Given the description of an element on the screen output the (x, y) to click on. 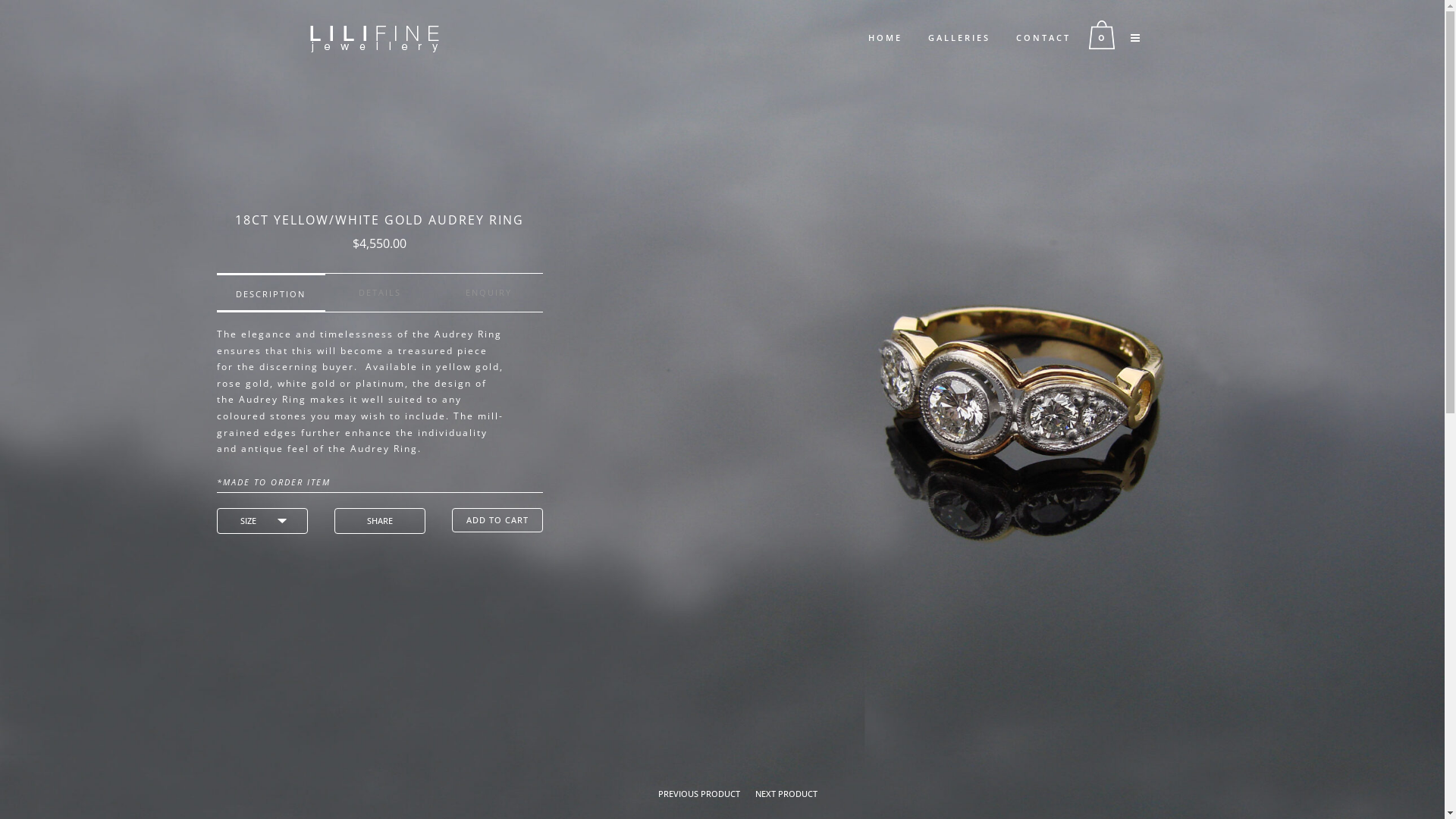
DESCRIPTION Element type: text (270, 293)
GALLERIES Element type: text (958, 37)
ENQUIRY Element type: text (487, 292)
DETAILS Element type: text (379, 292)
HOME Element type: text (885, 37)
SHARE Element type: text (379, 520)
CONTACT Element type: text (1042, 37)
NEXT PRODUCT Element type: text (786, 793)
PREVIOUS PRODUCT Element type: text (699, 793)
ADD TO CART Element type: text (496, 520)
0 Element type: text (1104, 34)
